Given the description of an element on the screen output the (x, y) to click on. 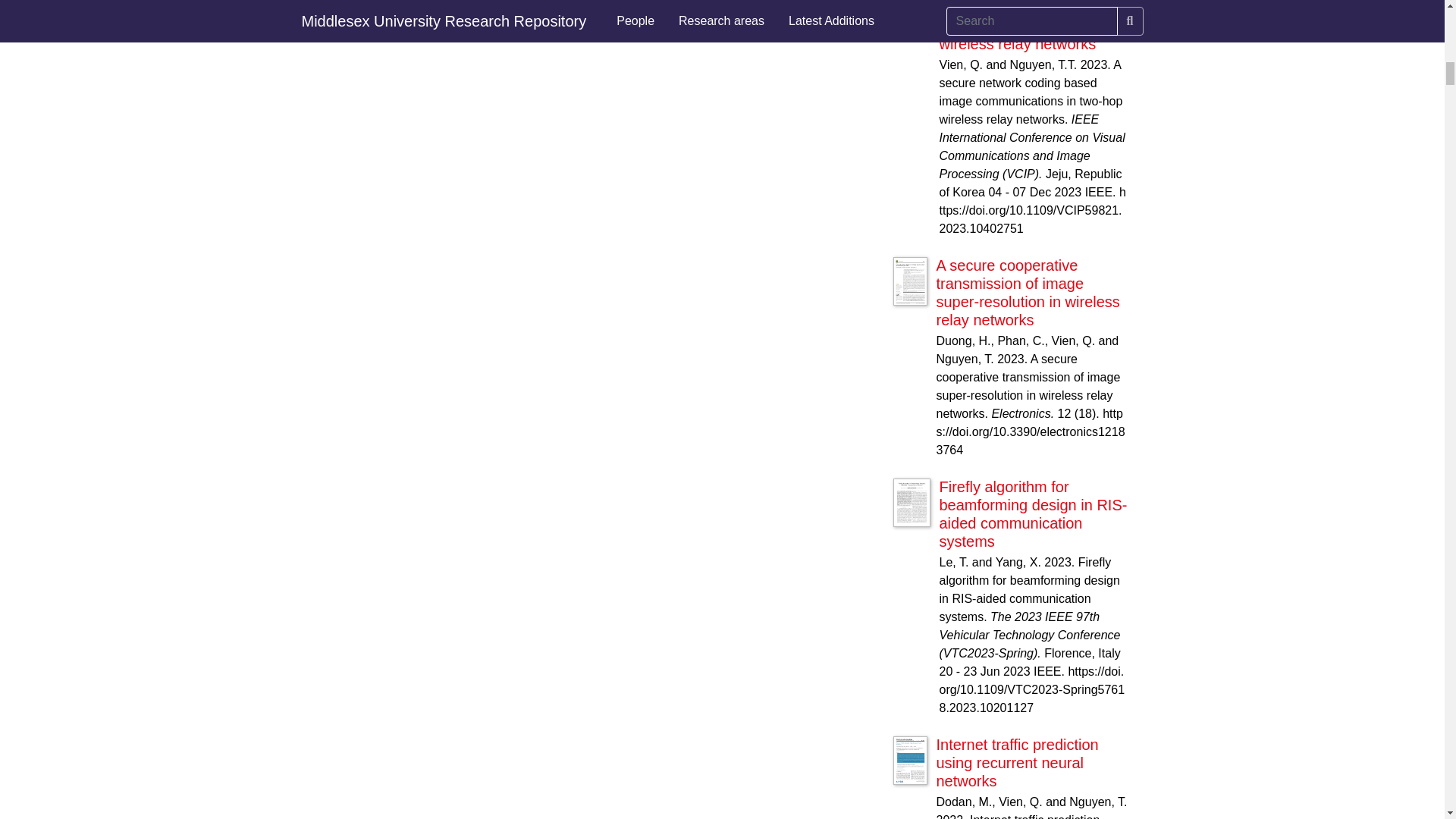
Internet traffic prediction using recurrent neural networks (1016, 762)
